Given the description of an element on the screen output the (x, y) to click on. 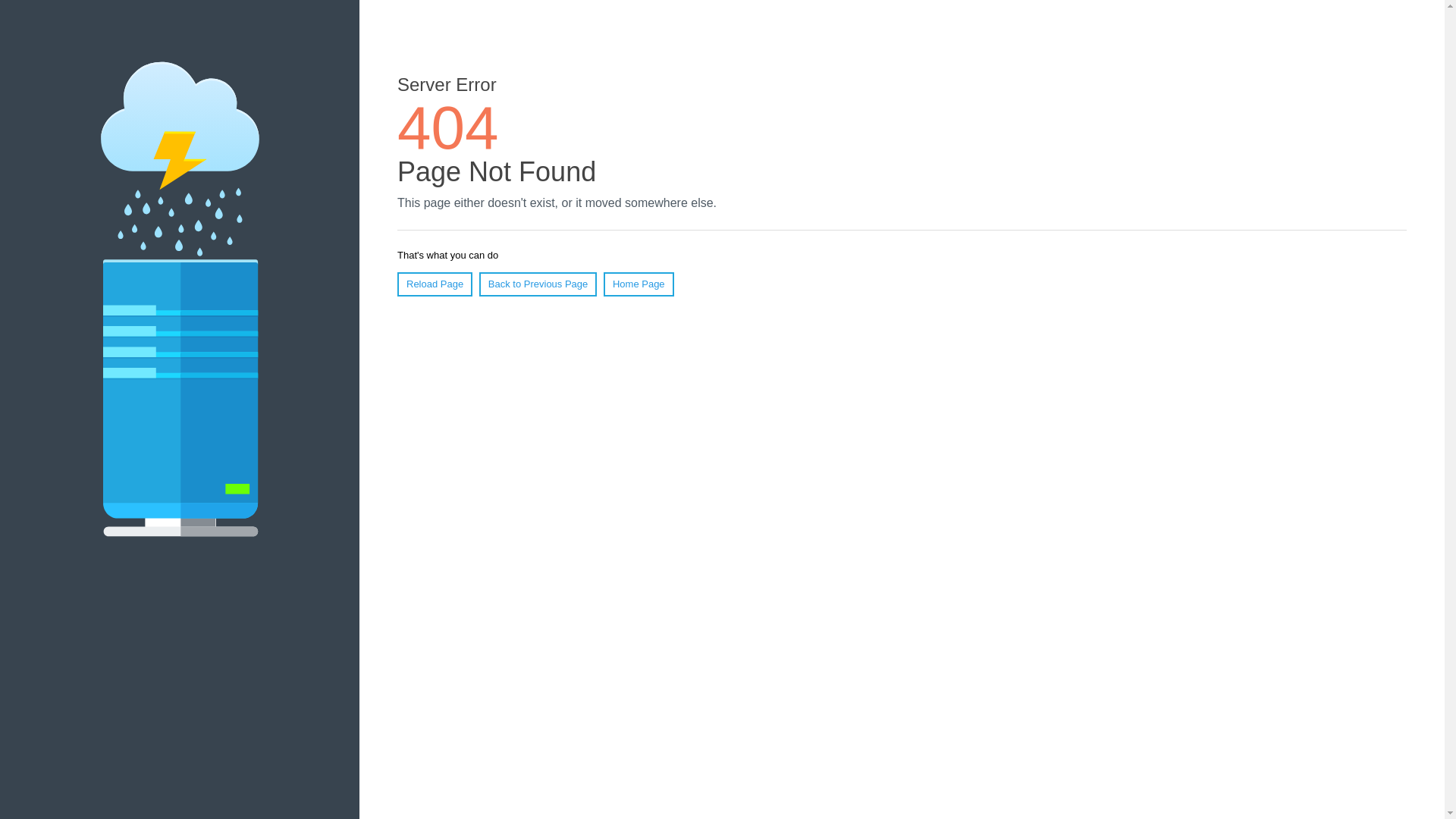
Back to Previous Page Element type: text (538, 284)
Home Page Element type: text (638, 284)
Reload Page Element type: text (434, 284)
